Given the description of an element on the screen output the (x, y) to click on. 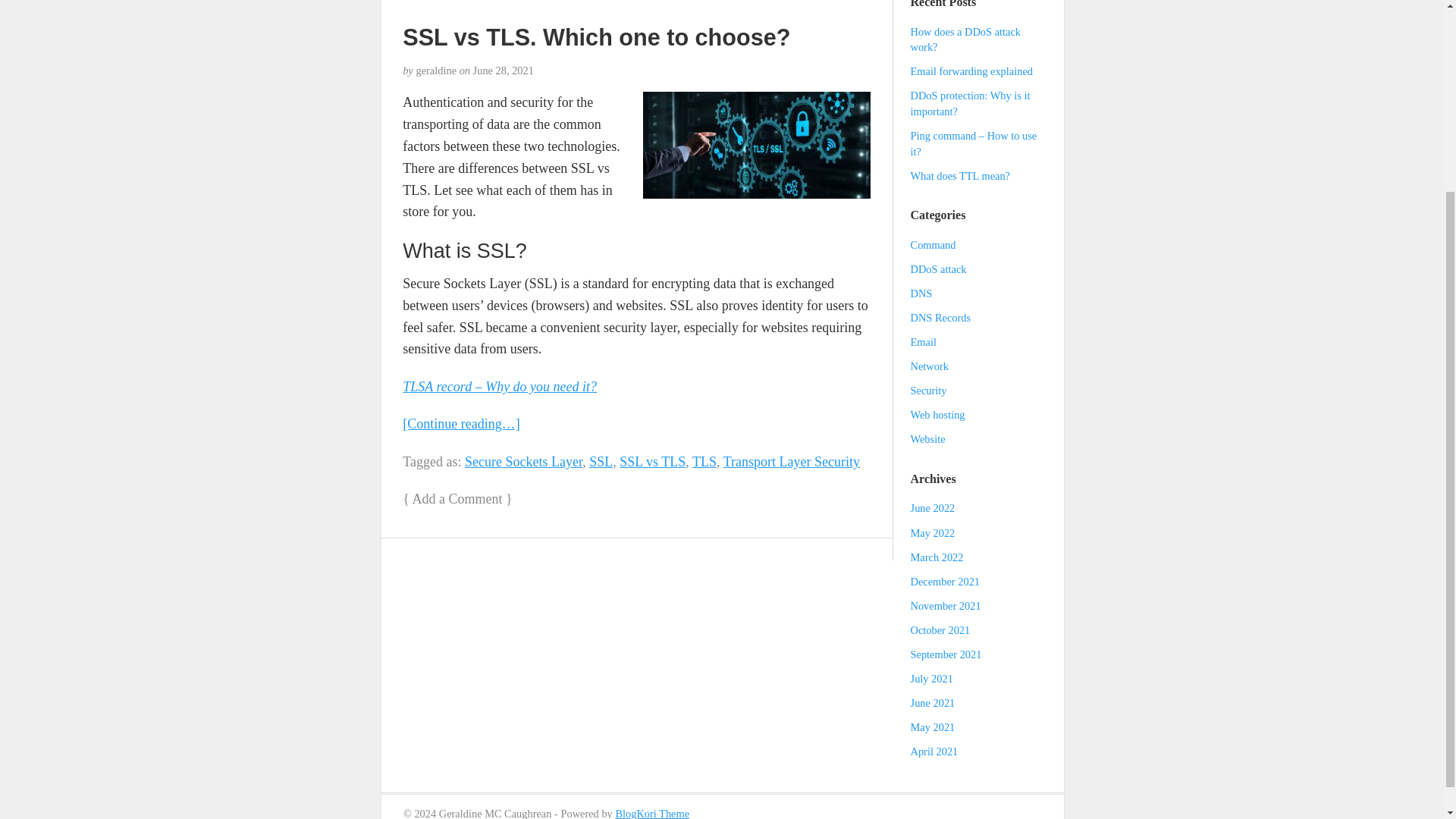
May 2021 (933, 727)
SSL (600, 461)
Email forwarding explained (971, 70)
October 2021 (941, 630)
Permanent link to SSL vs TLS. Which one to choose? (596, 36)
March 2022 (937, 557)
May 2022 (933, 532)
Security (929, 390)
DDoS attack (938, 268)
June 2021 (933, 702)
